Given the description of an element on the screen output the (x, y) to click on. 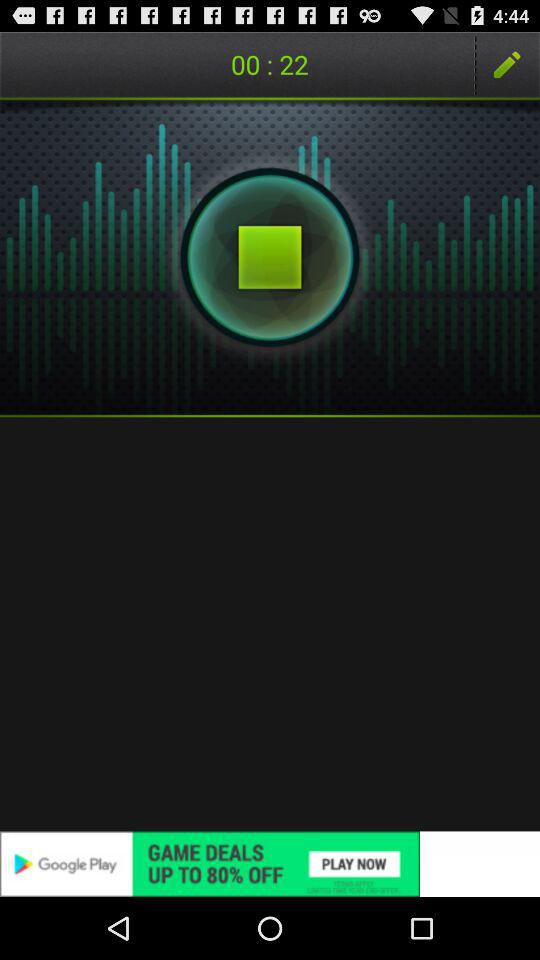
tap the app below the 01 : 15 app (270, 257)
